Given the description of an element on the screen output the (x, y) to click on. 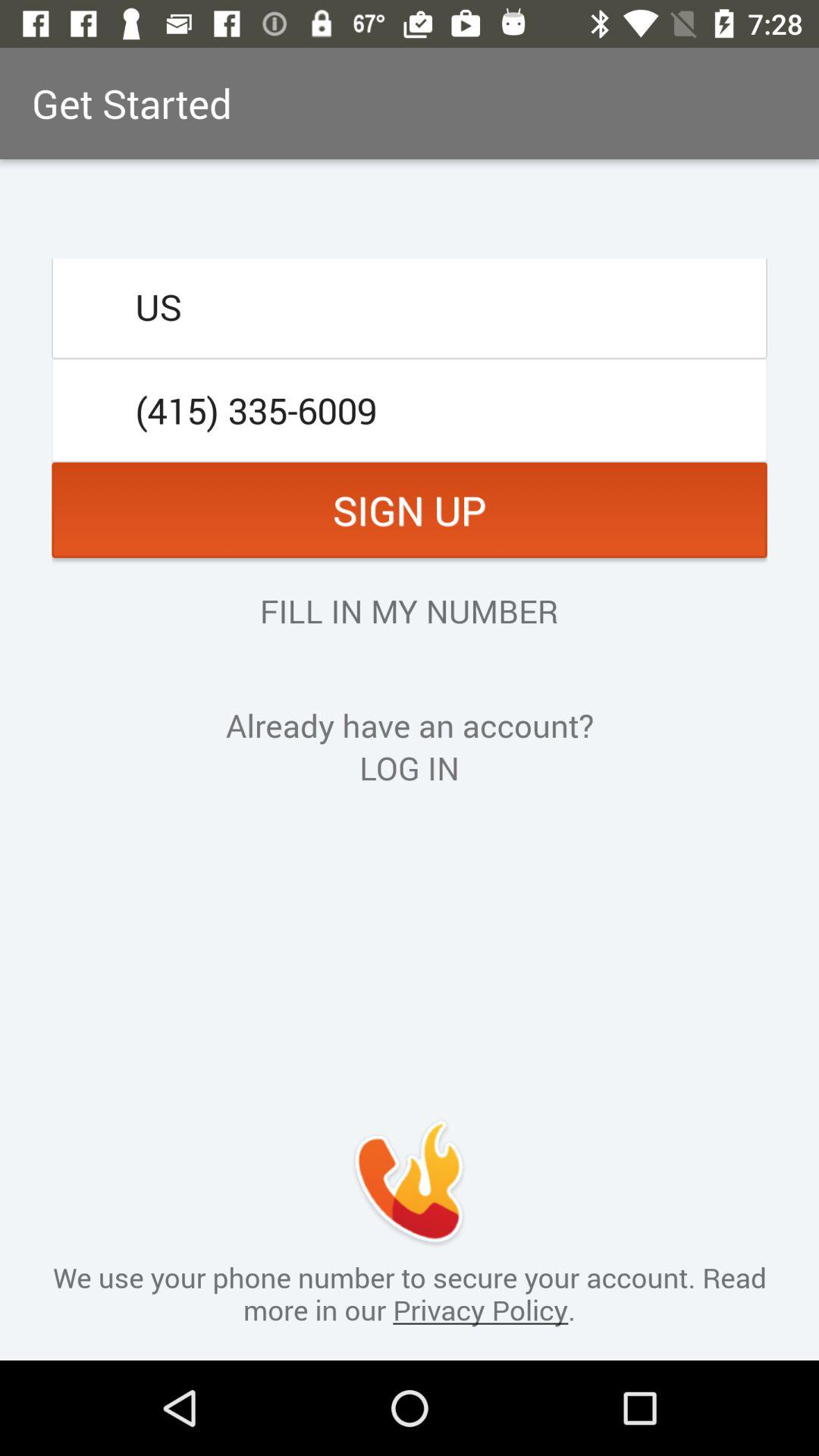
open item above the fill in my item (409, 509)
